Given the description of an element on the screen output the (x, y) to click on. 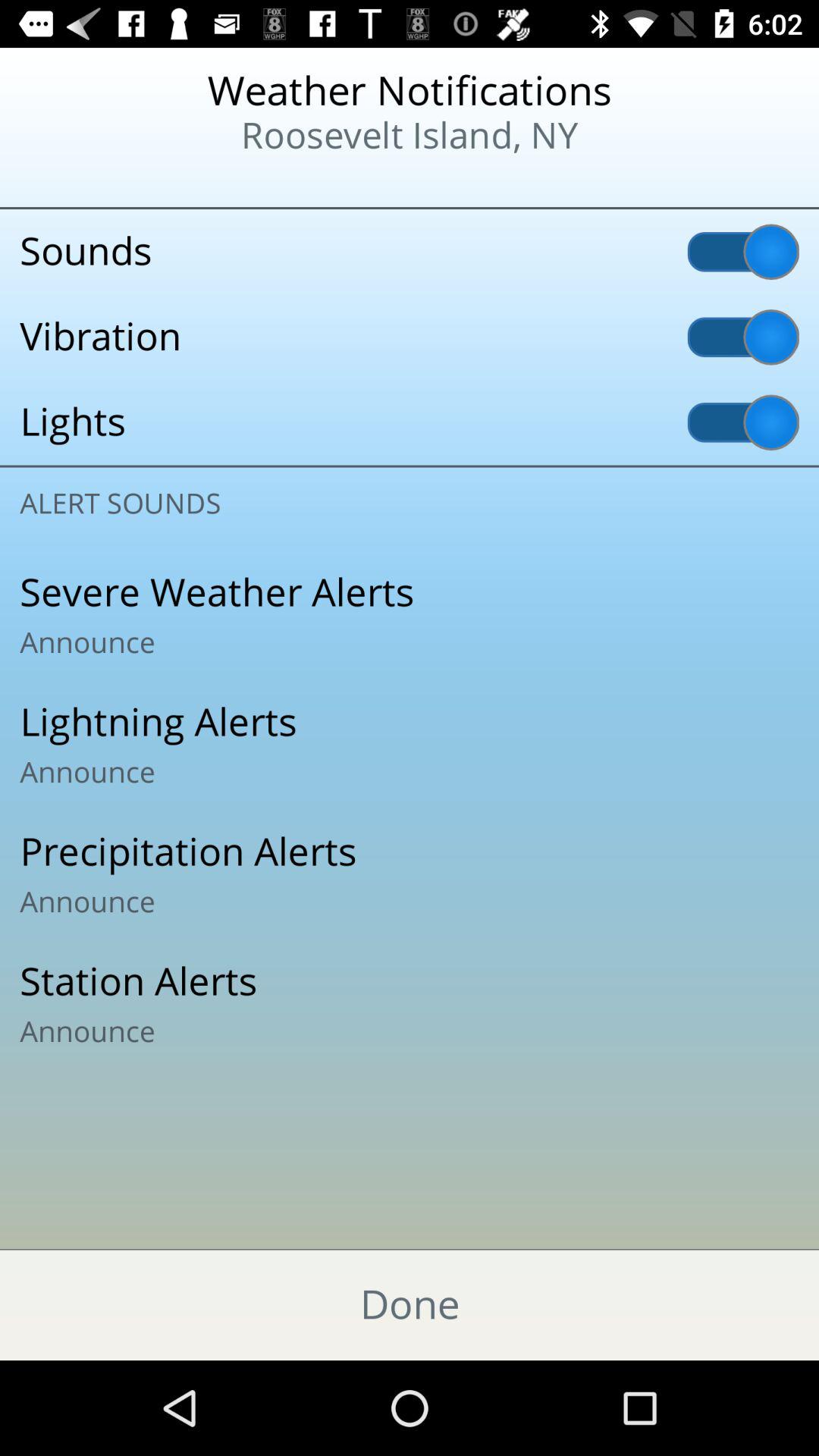
select vibration icon (409, 336)
